Given the description of an element on the screen output the (x, y) to click on. 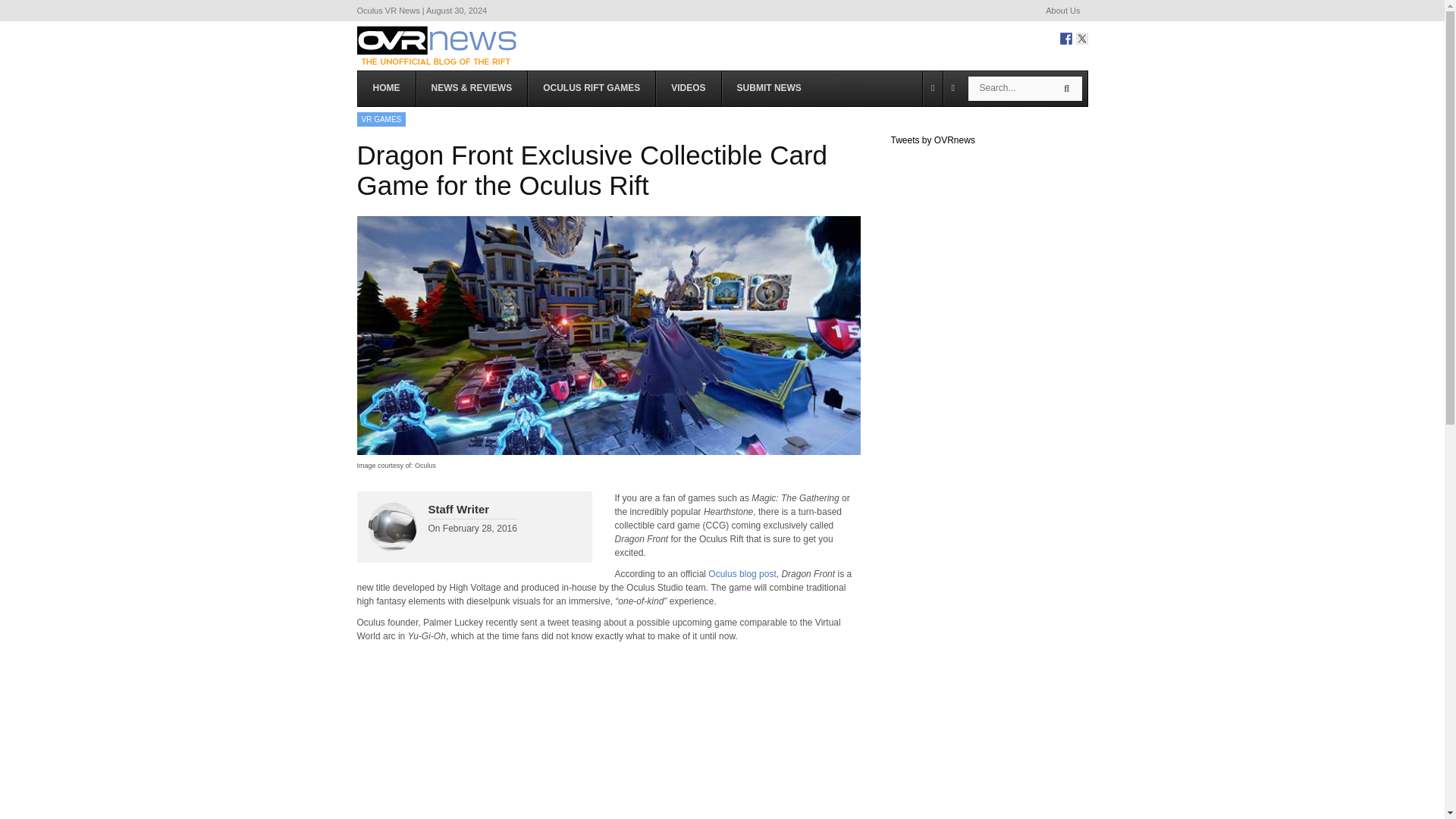
Follow us on Twitter (1081, 38)
Tweets by OVRnews (931, 140)
Oculus videos from around the web (687, 88)
Our latest VR news coverage for all things Oculus (470, 88)
Oculus blog post (741, 573)
Send us an Oculus news tip! (768, 88)
VIDEOS (687, 88)
About Us (1062, 10)
HOME (386, 88)
Follow us on Facebook (1065, 38)
